Given the description of an element on the screen output the (x, y) to click on. 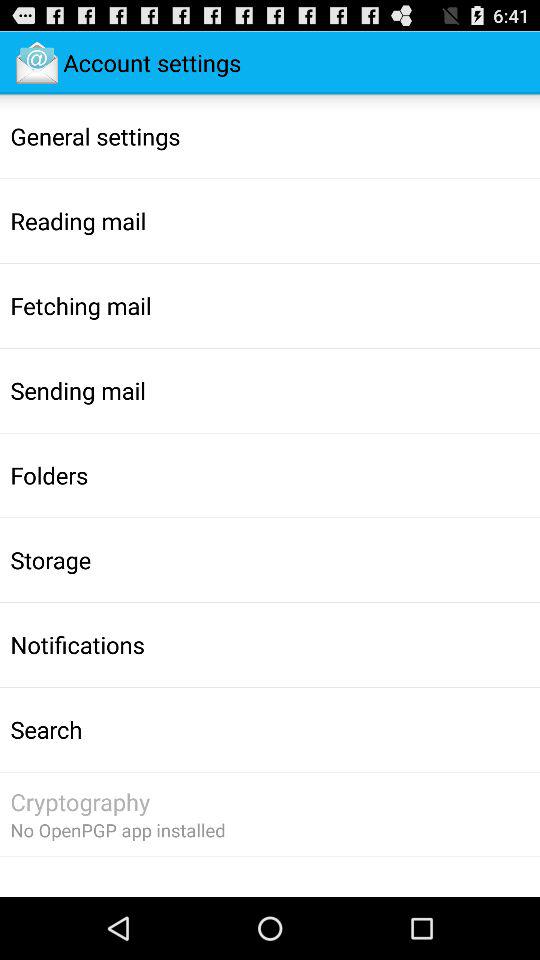
click item above the search app (77, 644)
